Given the description of an element on the screen output the (x, y) to click on. 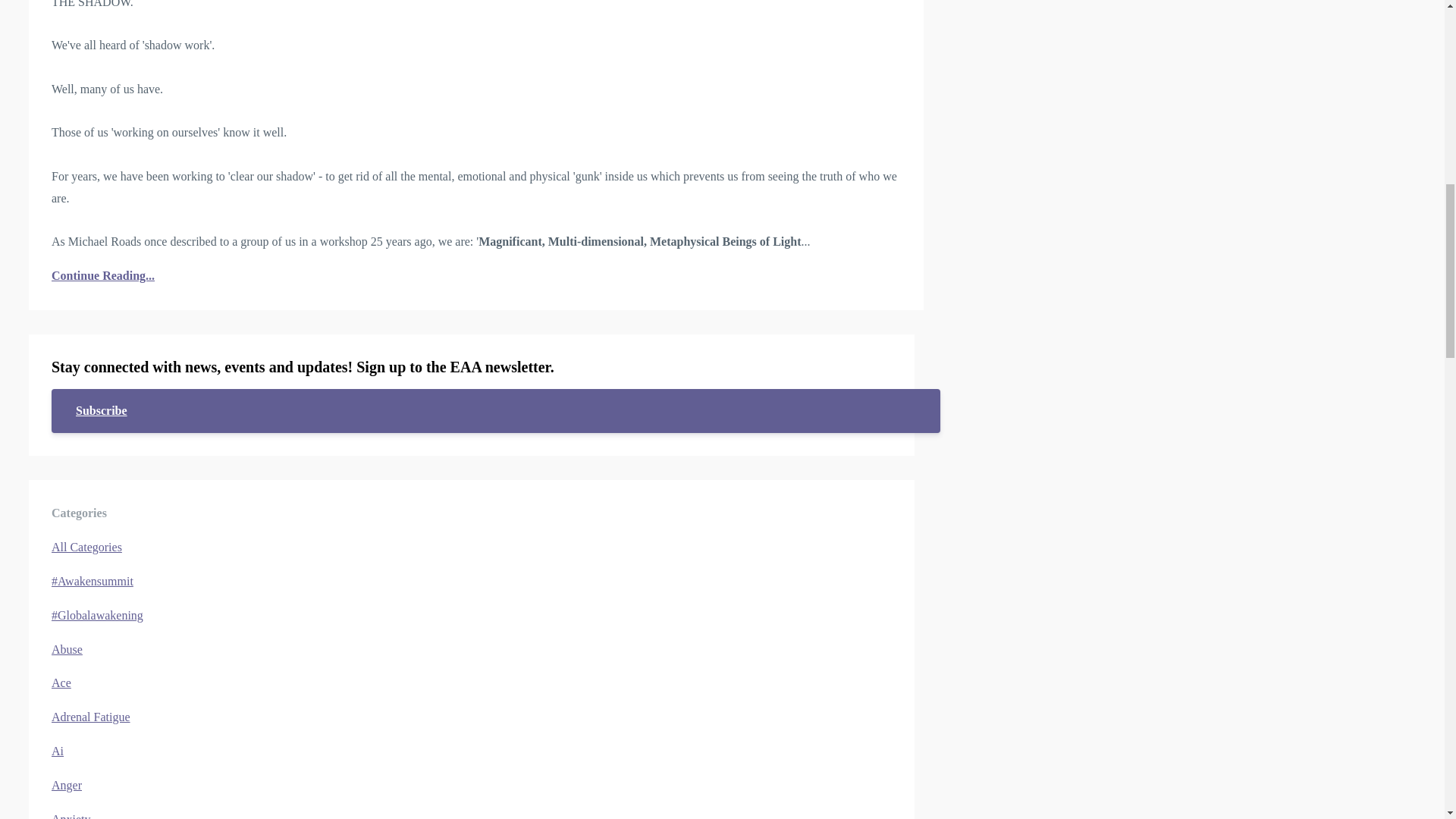
Adrenal Fatigue (90, 716)
Abuse (66, 649)
All Categories (86, 546)
Ai (57, 750)
Subscribe (495, 411)
Anxiety (70, 816)
Anger (65, 784)
Ace (60, 682)
Continue Reading... (475, 276)
